Given the description of an element on the screen output the (x, y) to click on. 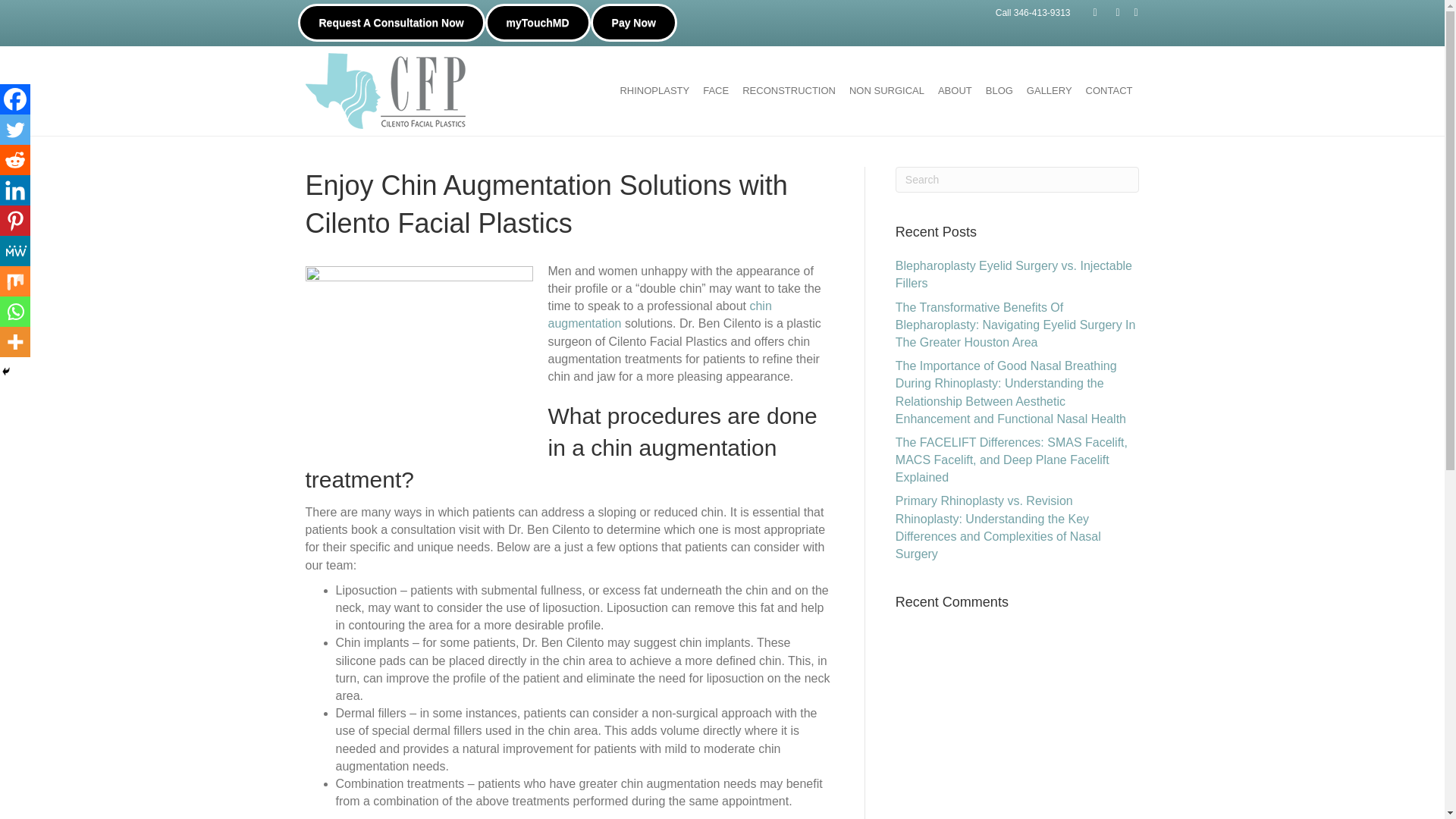
chin augmentation (659, 314)
RECONSTRUCTION (789, 90)
Type and press Enter to search. (1017, 179)
More (15, 341)
Google (1107, 11)
CONTACT (1109, 90)
Mix (15, 281)
Twitter (15, 129)
Request A Consultation Now (390, 22)
Linkedin (15, 190)
Hide (5, 371)
Pinterest (15, 220)
Facebook (15, 99)
RHINOPLASTY (653, 90)
BLOG (999, 90)
